Given the description of an element on the screen output the (x, y) to click on. 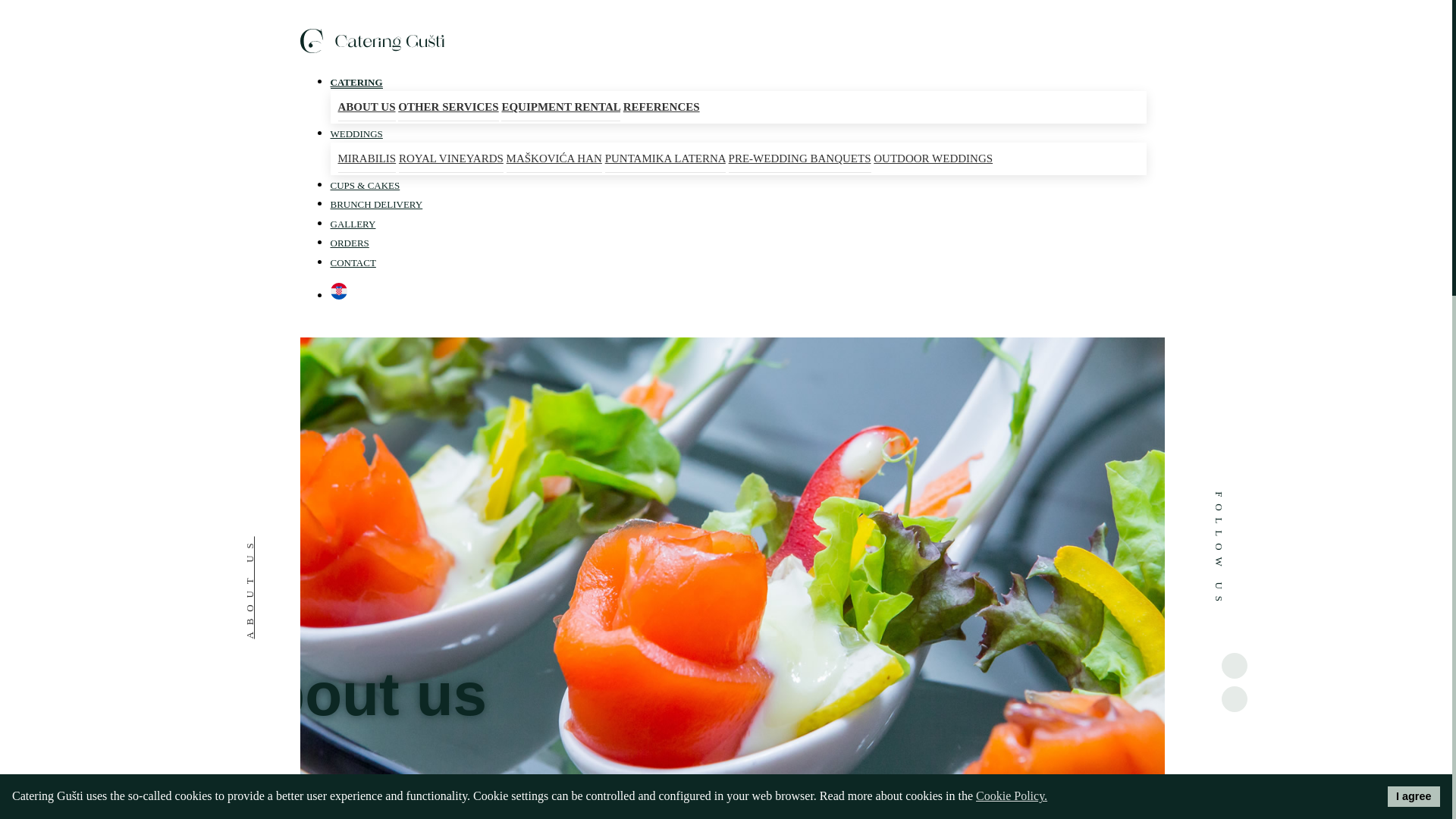
GALLERY (352, 216)
PRE-WEDDING BANQUETS (799, 158)
ORDERS (349, 235)
I agree (1413, 795)
ABOUT US (366, 107)
ROYAL VINEYARDS (450, 158)
Cookie Policy. (1010, 796)
CONTACT (352, 255)
OUTDOOR WEDDINGS (932, 157)
BRUNCH DELIVERY (376, 196)
WEDDINGS (356, 126)
EQUIPMENT RENTAL (560, 107)
MIRABILIS (366, 158)
CATERING (356, 74)
REFERENCES (661, 106)
